Given the description of an element on the screen output the (x, y) to click on. 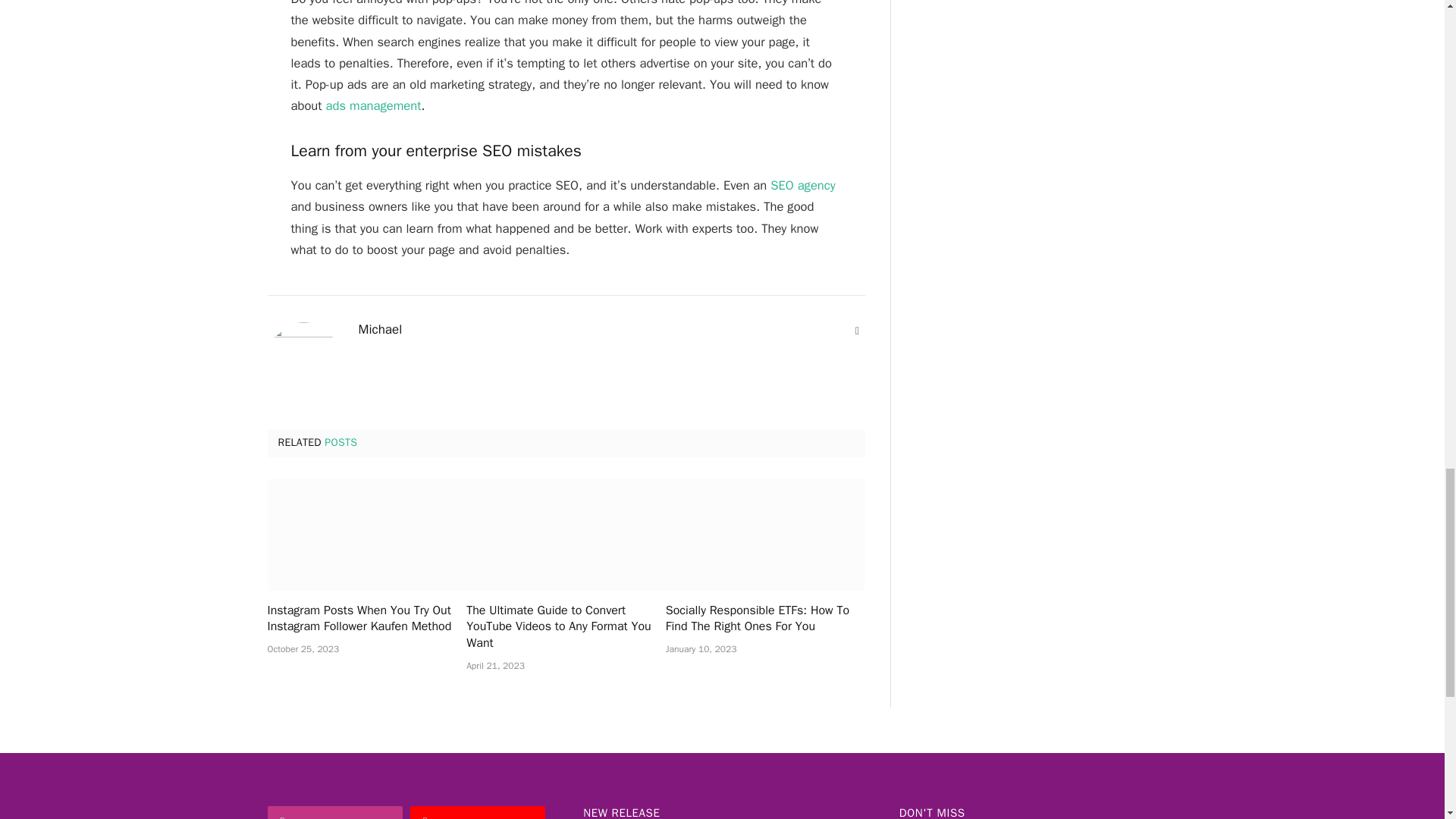
SEO agency (802, 185)
Website (856, 331)
Posts by Michael (379, 329)
ads management (374, 105)
Michael (379, 329)
Website (856, 331)
